Given the description of an element on the screen output the (x, y) to click on. 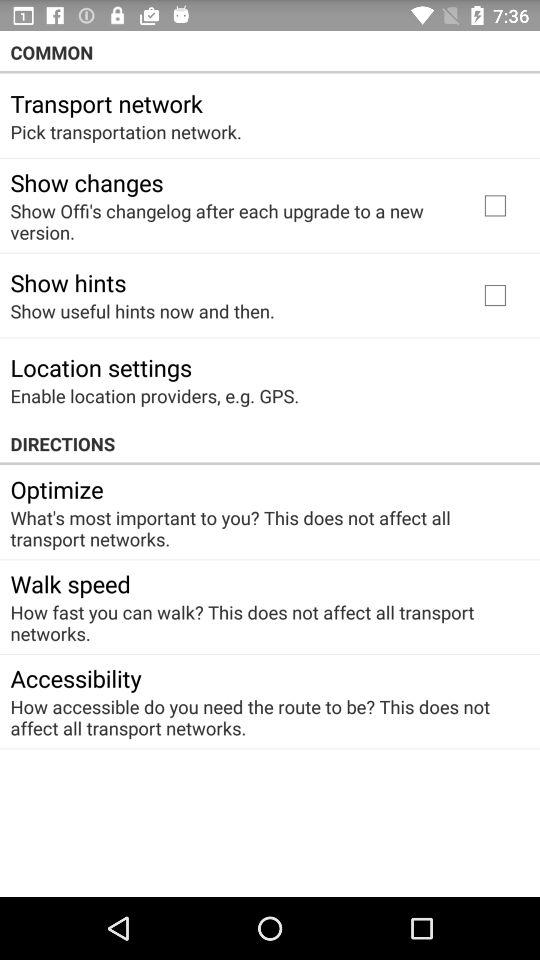
tap the optimize icon (56, 489)
